Given the description of an element on the screen output the (x, y) to click on. 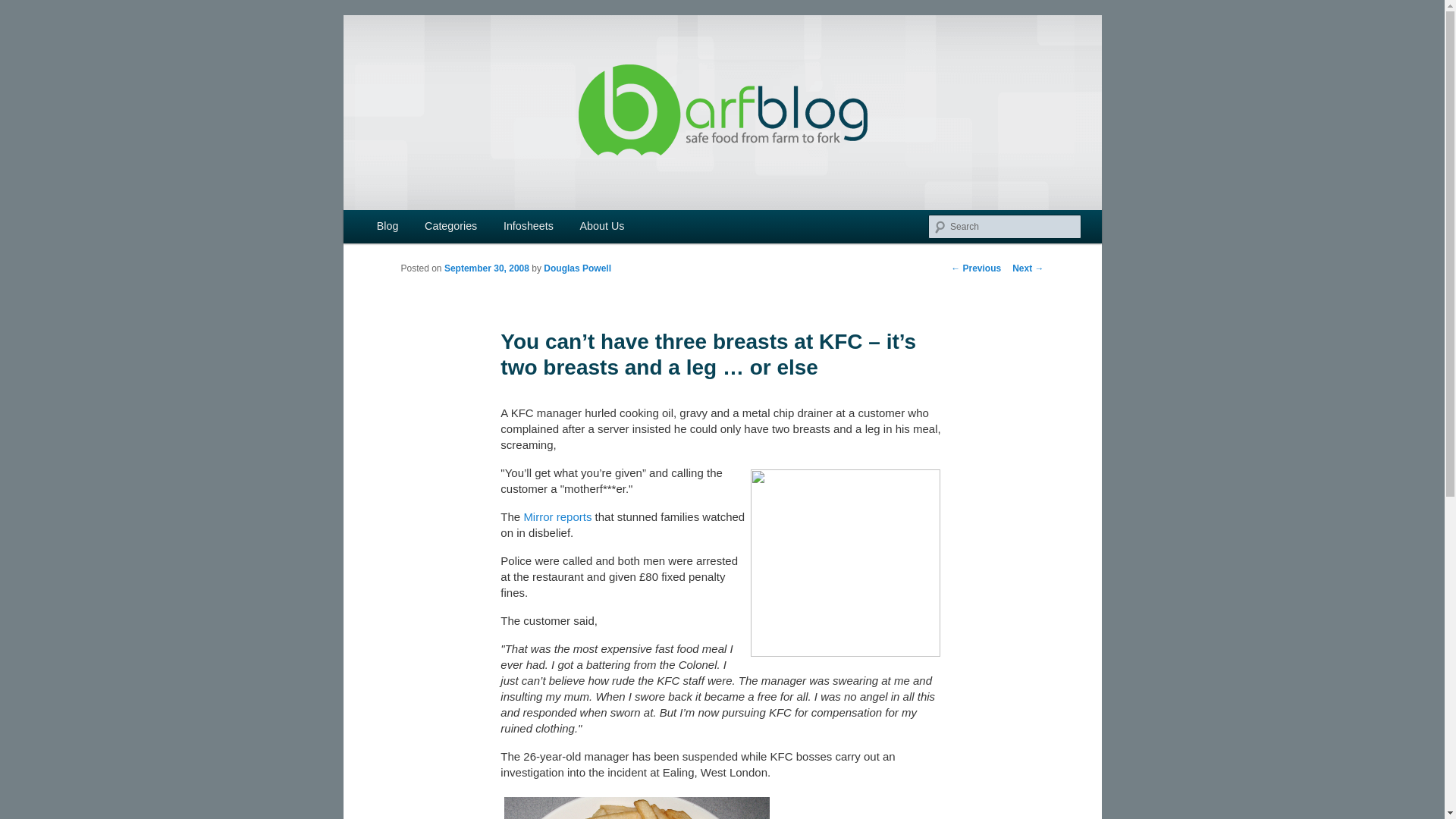
Infosheets (528, 225)
Mirror reports (556, 516)
About Us (601, 225)
Skip to primary content (414, 227)
barfblog (446, 69)
Skip to secondary content (421, 227)
Skip to secondary content (421, 227)
September 30, 2008 (486, 267)
Search (24, 8)
10:01 am (486, 267)
Skip to primary content (414, 227)
View all posts by Douglas Powell (577, 267)
Blog (388, 225)
Douglas Powell (577, 267)
barfblog (446, 69)
